Given the description of an element on the screen output the (x, y) to click on. 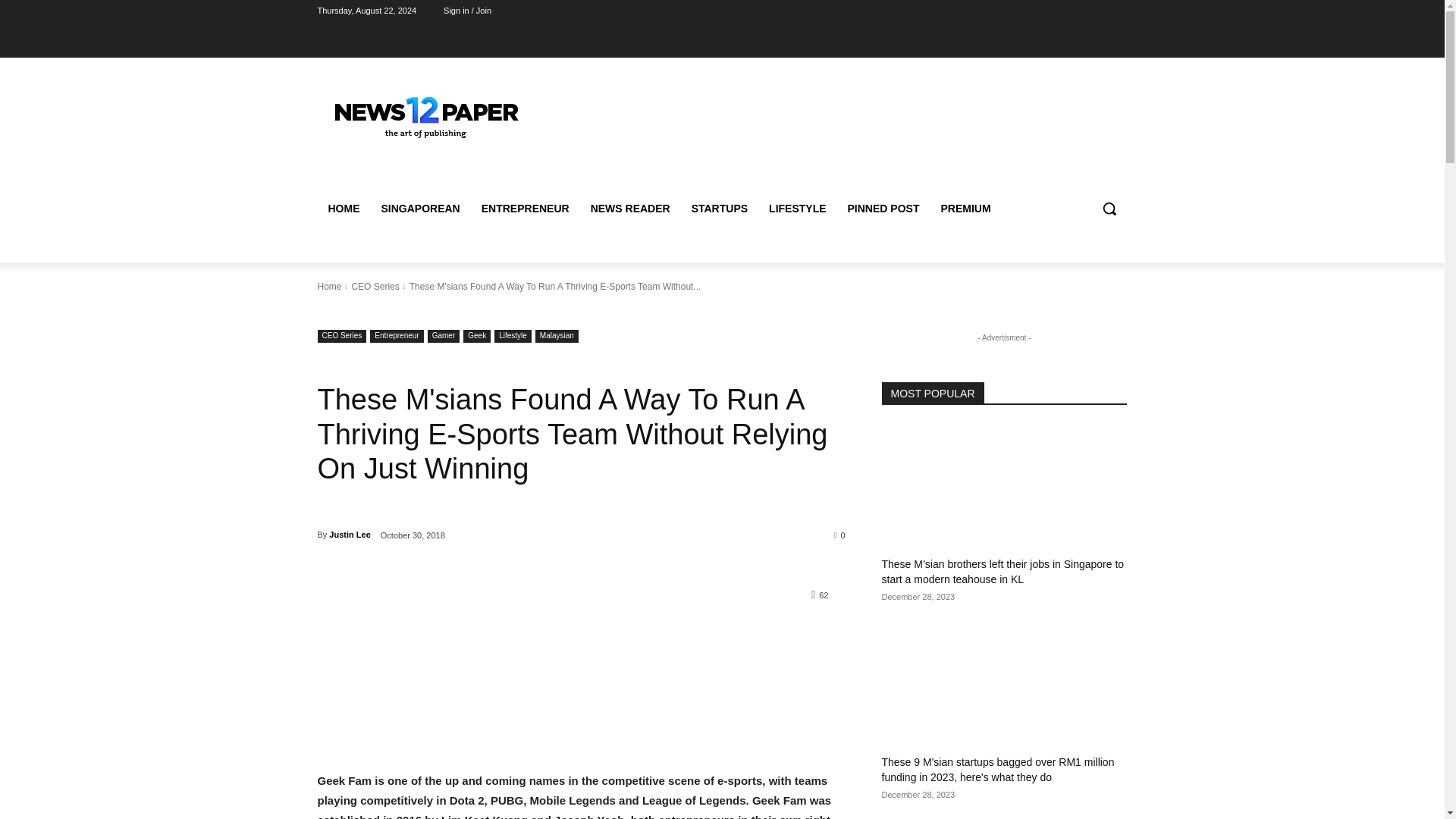
PREMIUM (965, 208)
ENTREPRENEUR (524, 208)
LIFESTYLE (796, 208)
CEO Series (374, 286)
Lifestyle (513, 336)
Geek (476, 336)
NEWS READER (630, 208)
Home (328, 286)
STARTUPS (719, 208)
CEO Series (341, 336)
